Given the description of an element on the screen output the (x, y) to click on. 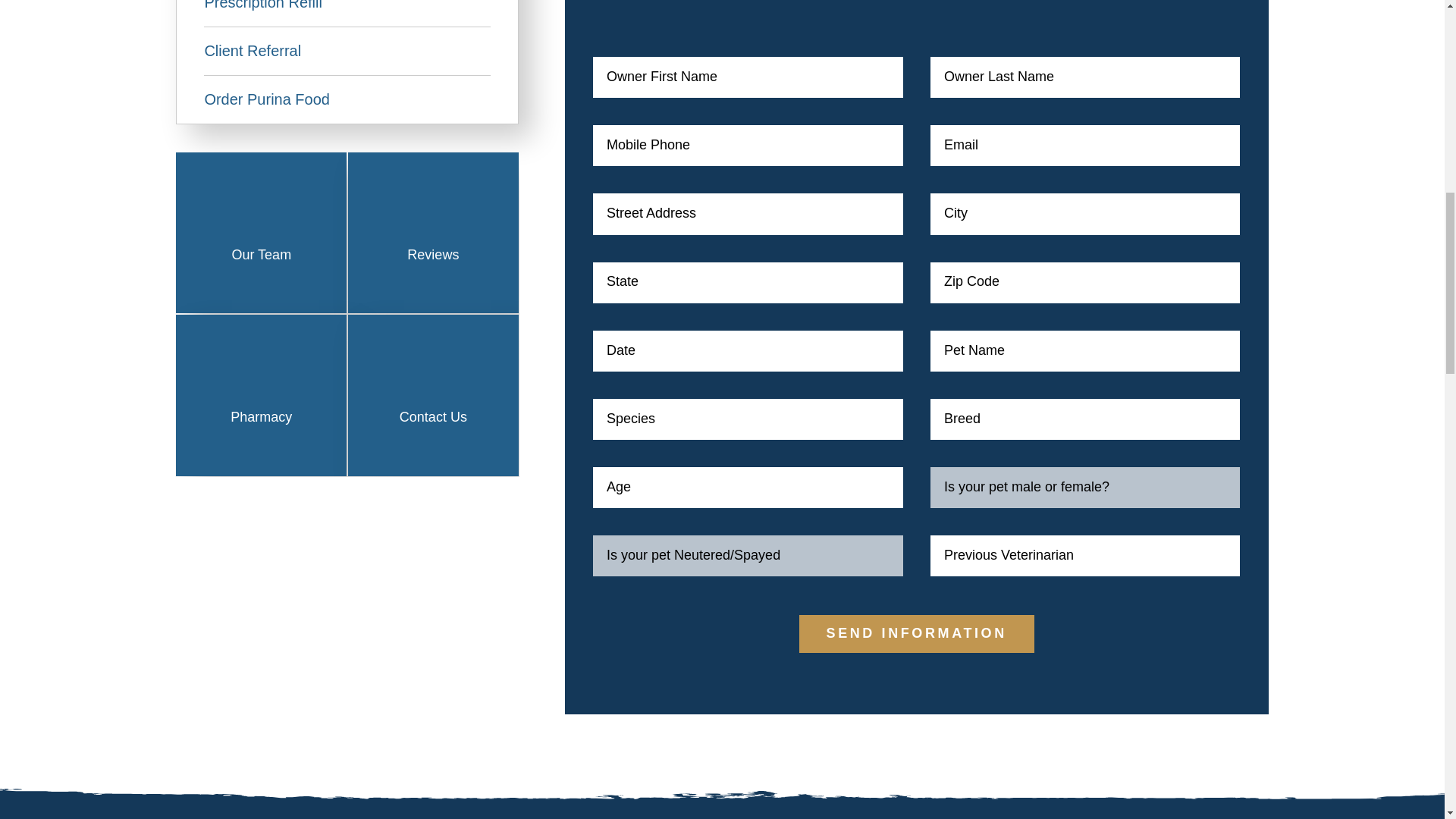
Our Team (261, 214)
Contact Us (432, 377)
Reviews (432, 214)
Pharmacy (261, 377)
